Given the description of an element on the screen output the (x, y) to click on. 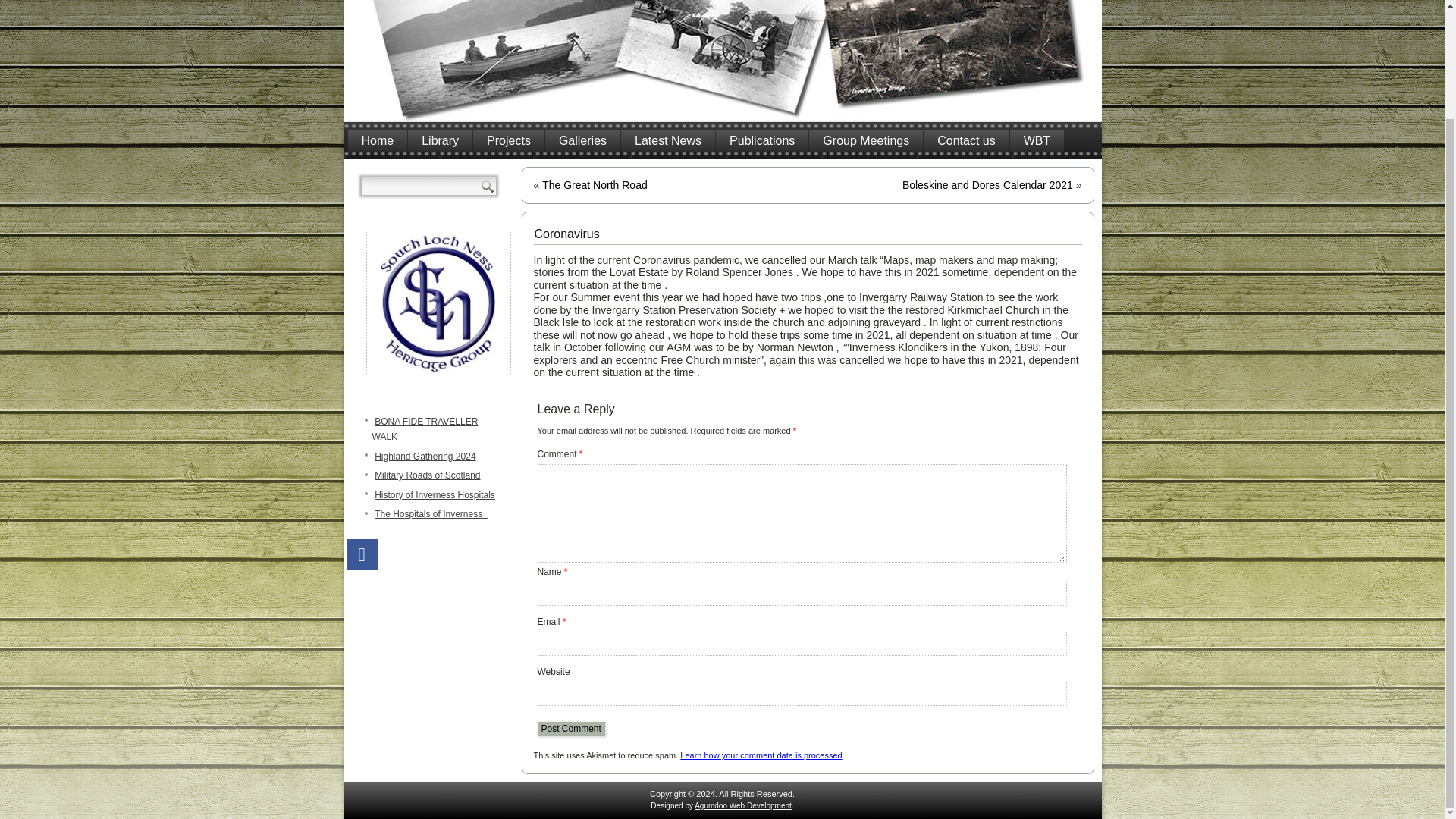
Library (439, 140)
Home (377, 140)
Library (439, 140)
Home (377, 140)
Post Comment (570, 728)
